Given the description of an element on the screen output the (x, y) to click on. 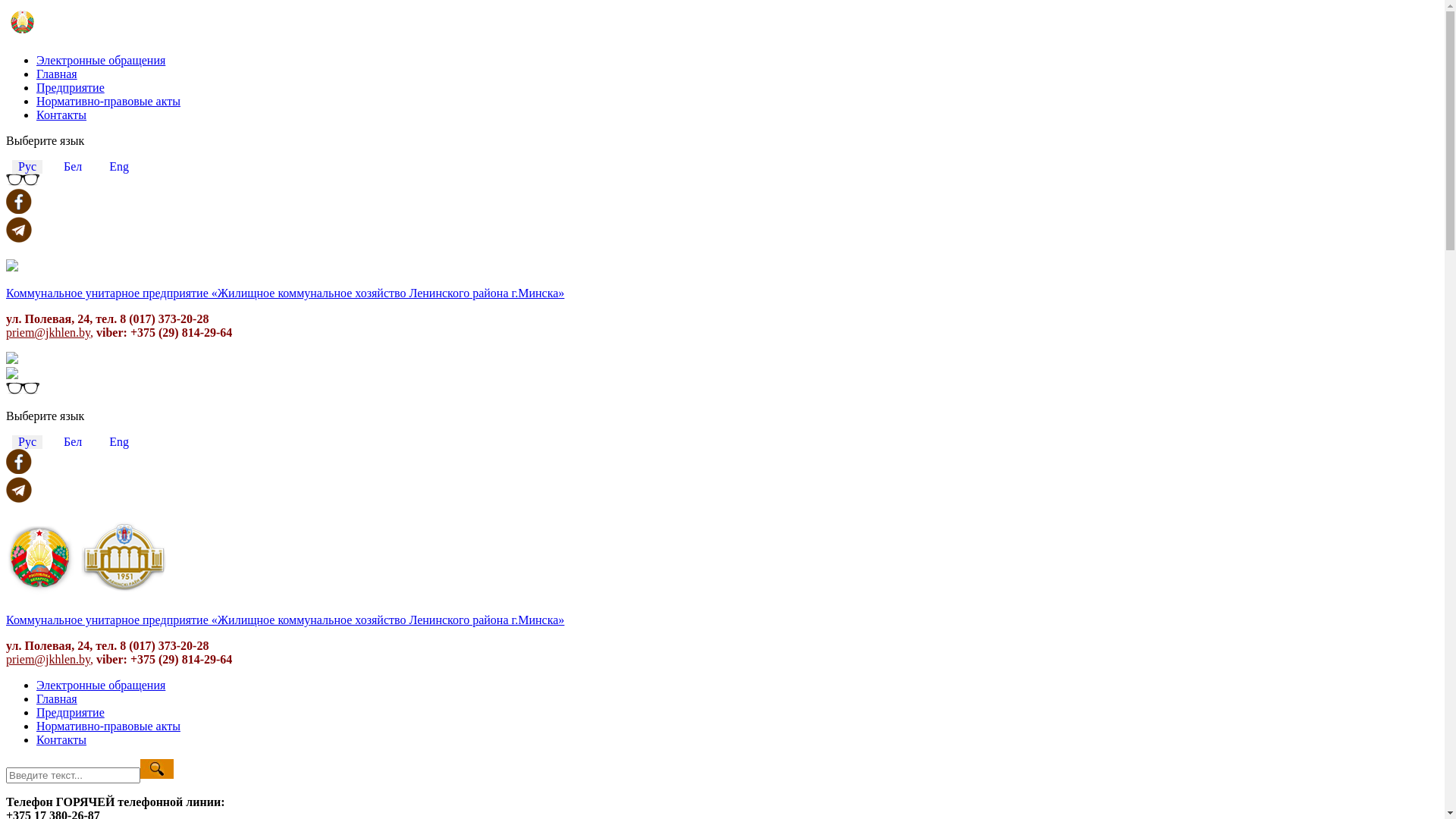
priem@jkhlen.by Element type: text (48, 658)
Eng Element type: text (118, 165)
Eng Element type: text (118, 441)
priem@jkhlen.by Element type: text (48, 332)
